Given the description of an element on the screen output the (x, y) to click on. 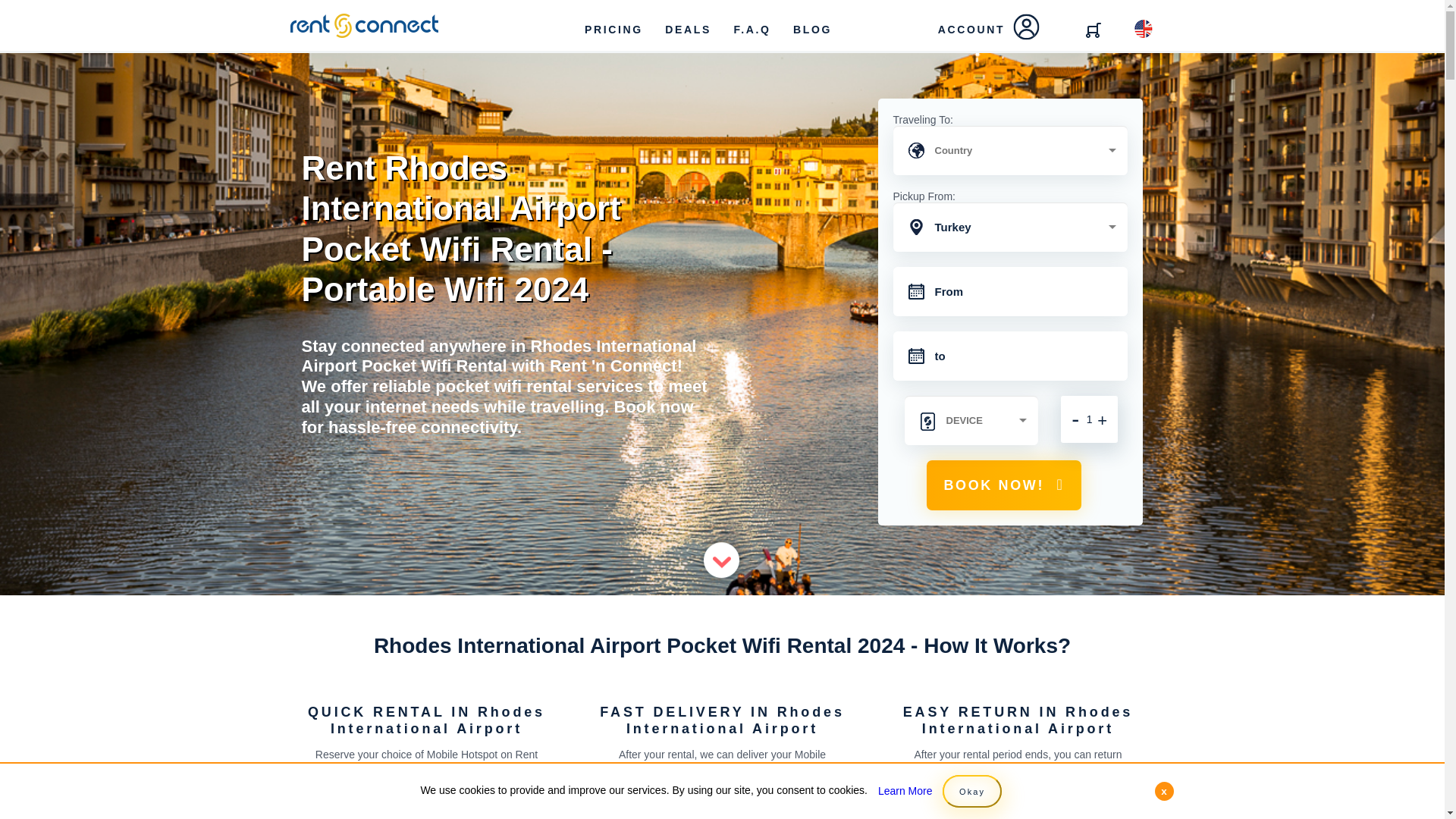
1 (1089, 419)
Opens a widget where you can chat to one of our agents (1387, 792)
DEALS (686, 28)
RENT'N CONNECT (363, 25)
PRICING (613, 28)
F.A.Q (752, 28)
BLOG (812, 28)
BOOK NOW! (1003, 485)
